Given the description of an element on the screen output the (x, y) to click on. 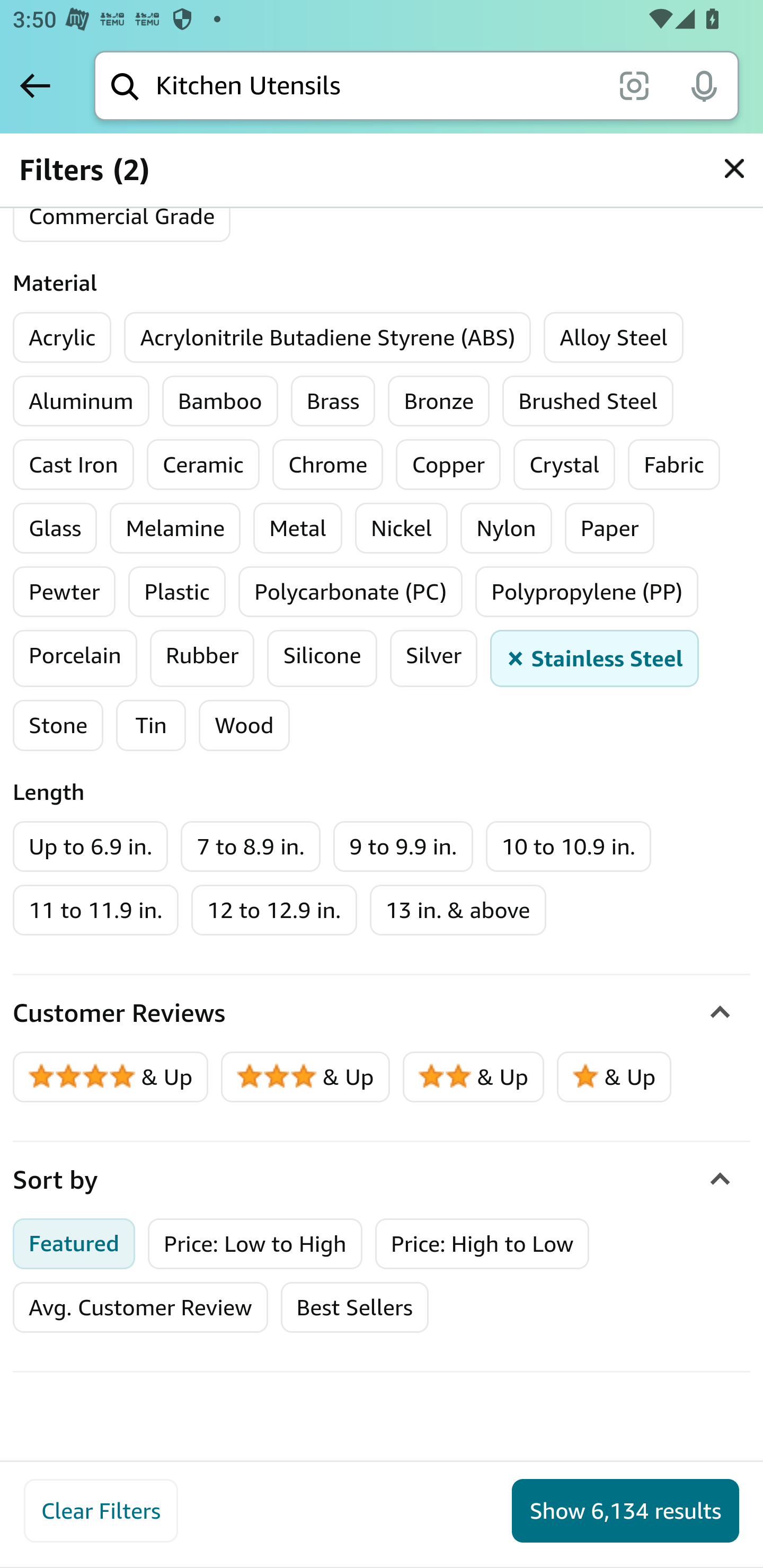
Back (35, 85)
scan it (633, 85)
Commercial Grade (121, 217)
Acrylic (62, 337)
Acrylonitrile Butadiene Styrene (ABS) (327, 337)
Alloy Steel (613, 337)
Aluminum (80, 401)
Bamboo (219, 401)
Brass (332, 401)
Bronze (439, 401)
Brushed Steel (587, 401)
Cast Iron (73, 464)
Ceramic (203, 464)
Chrome (327, 464)
Copper (447, 464)
Crystal (563, 464)
Fabric (673, 464)
